Given the description of an element on the screen output the (x, y) to click on. 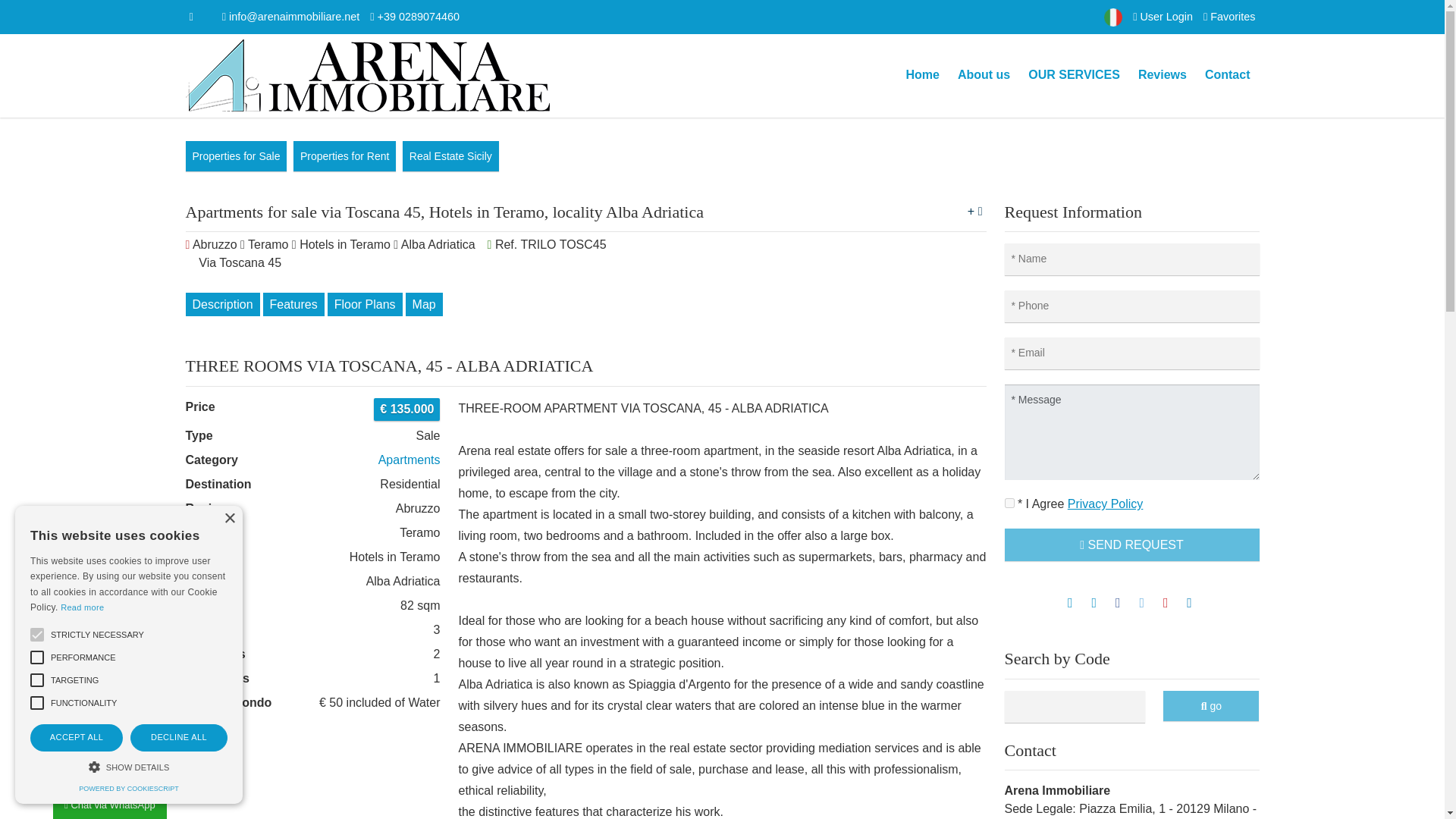
Properties for Sale (235, 155)
User Login (1162, 16)
OUR SERVICES (1074, 75)
Apartments (409, 459)
Click to add to favorites (975, 210)
Real Estate Sicily (451, 155)
send contact (1227, 75)
Favorites (1229, 16)
Reviews (1162, 75)
Floor Plans (365, 304)
About us (984, 75)
Real Estate Sicily (451, 155)
Description (221, 304)
Properties for Rent (345, 155)
Privacy Policy (1104, 503)
